Given the description of an element on the screen output the (x, y) to click on. 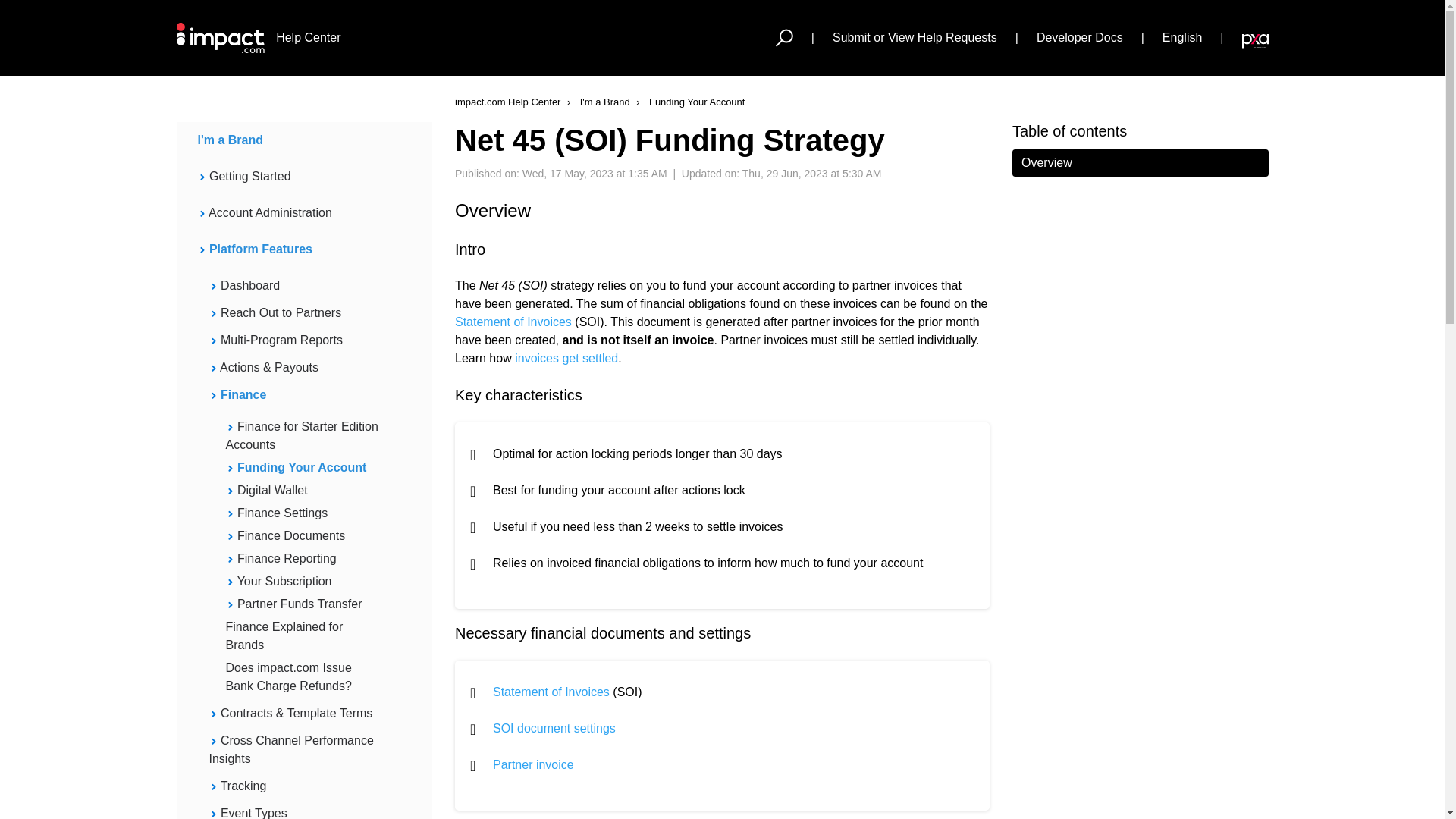
English (1181, 37)
Dashboard (292, 285)
Platform Features (292, 249)
I'm a Brand (292, 140)
I'm a Brand (596, 102)
Developer Docs (1079, 37)
Submit or View Help Requests (914, 37)
Getting Started (292, 176)
Account Administration (292, 212)
Funding Your Account (687, 102)
